Given the description of an element on the screen output the (x, y) to click on. 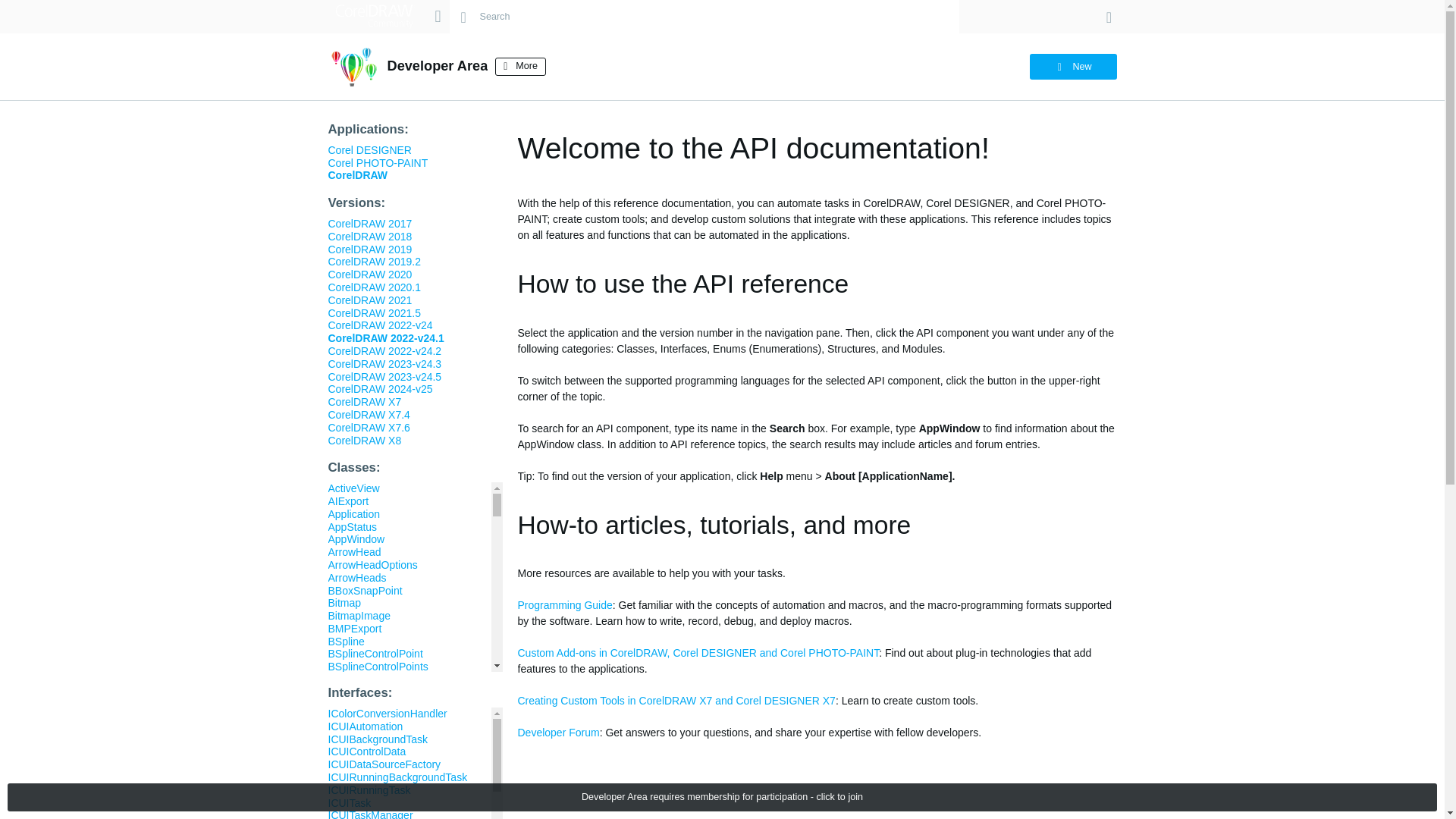
CorelDRAW X8 (364, 440)
User (1108, 17)
CorelDRAW 2022-v24 (379, 325)
CorelDRAW 2022-v24.2 (384, 350)
ActiveView (352, 488)
Corel PHOTO-PAINT (377, 162)
CorelDRAW 2020 (369, 274)
CorelDRAW X7.6 (368, 427)
CorelDRAW 2019.2 (373, 261)
CorelDRAW 2023-v24.3 (384, 363)
Developer Area (437, 65)
CorelDRAW 2019 (369, 249)
Corel DESIGNER (368, 150)
CorelDRAW 2024-v25 (379, 388)
